Given the description of an element on the screen output the (x, y) to click on. 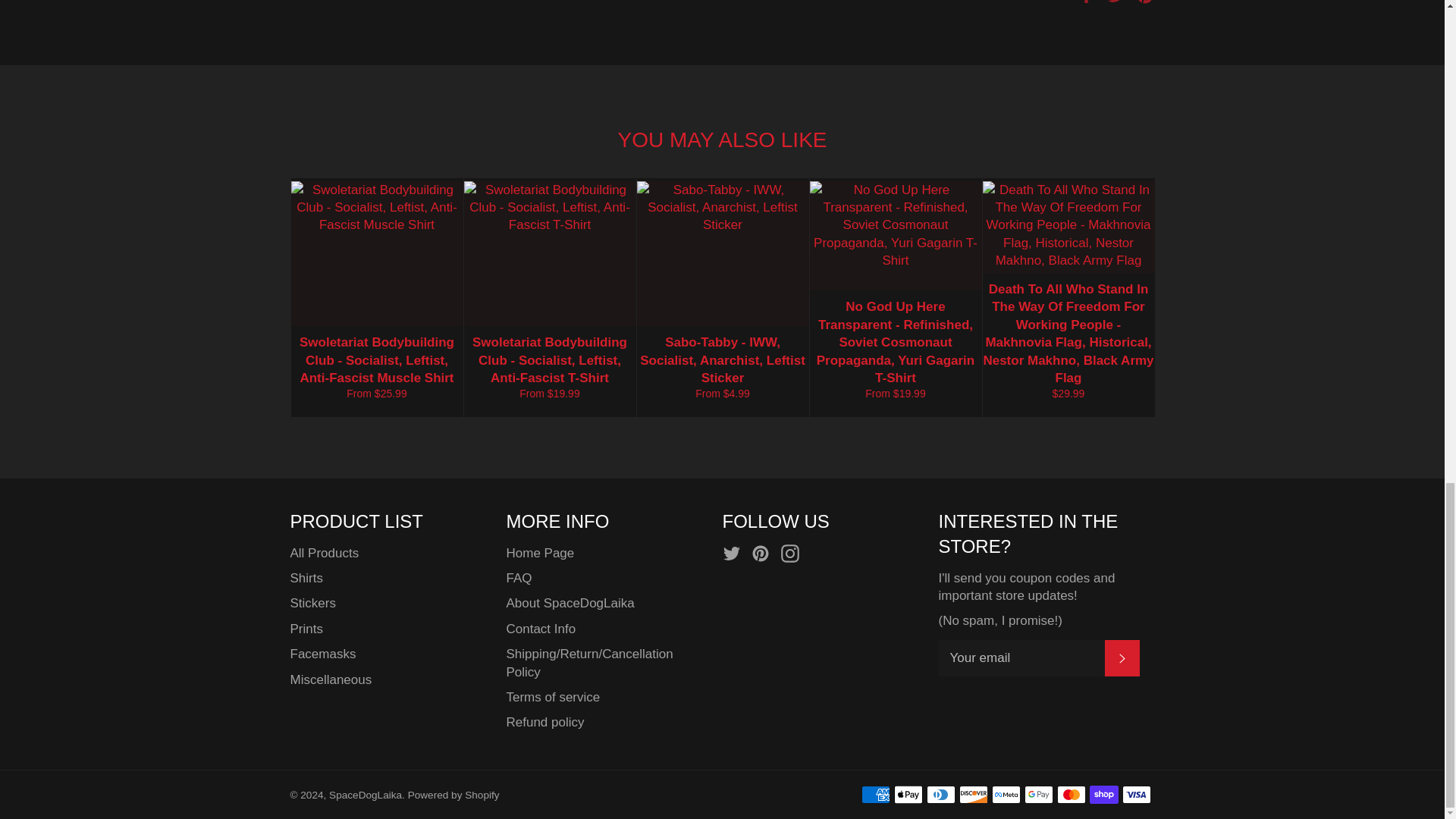
SpaceDogLaika on Pinterest (764, 553)
SpaceDogLaika on Twitter (735, 553)
Pin on Pinterest (1144, 1)
Share on Facebook (1088, 1)
SpaceDogLaika on Instagram (793, 553)
Tweet on Twitter (1117, 1)
